Given the description of an element on the screen output the (x, y) to click on. 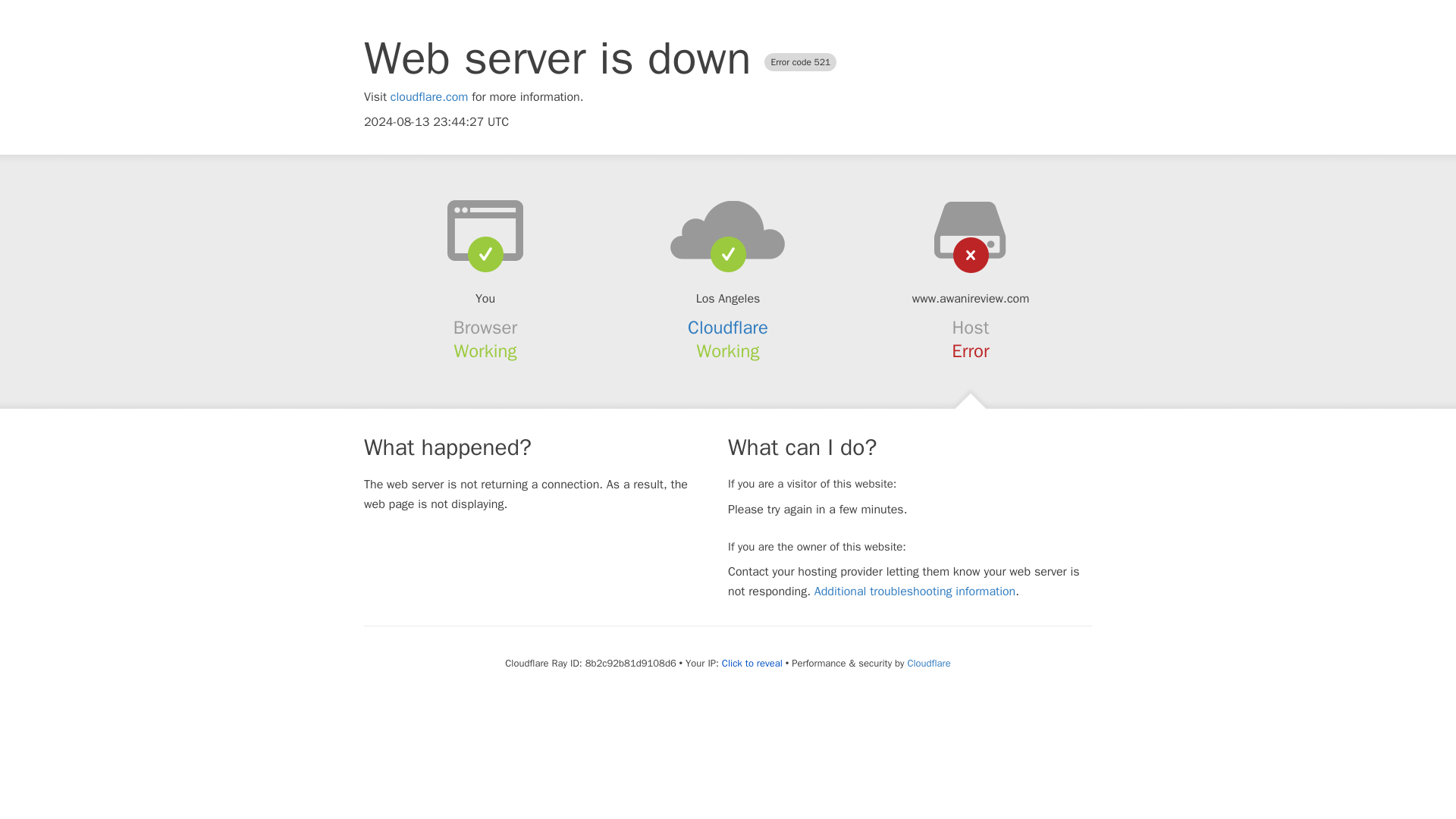
Cloudflare (928, 662)
Additional troubleshooting information (913, 590)
Click to reveal (752, 663)
Cloudflare (727, 327)
cloudflare.com (429, 96)
